Given the description of an element on the screen output the (x, y) to click on. 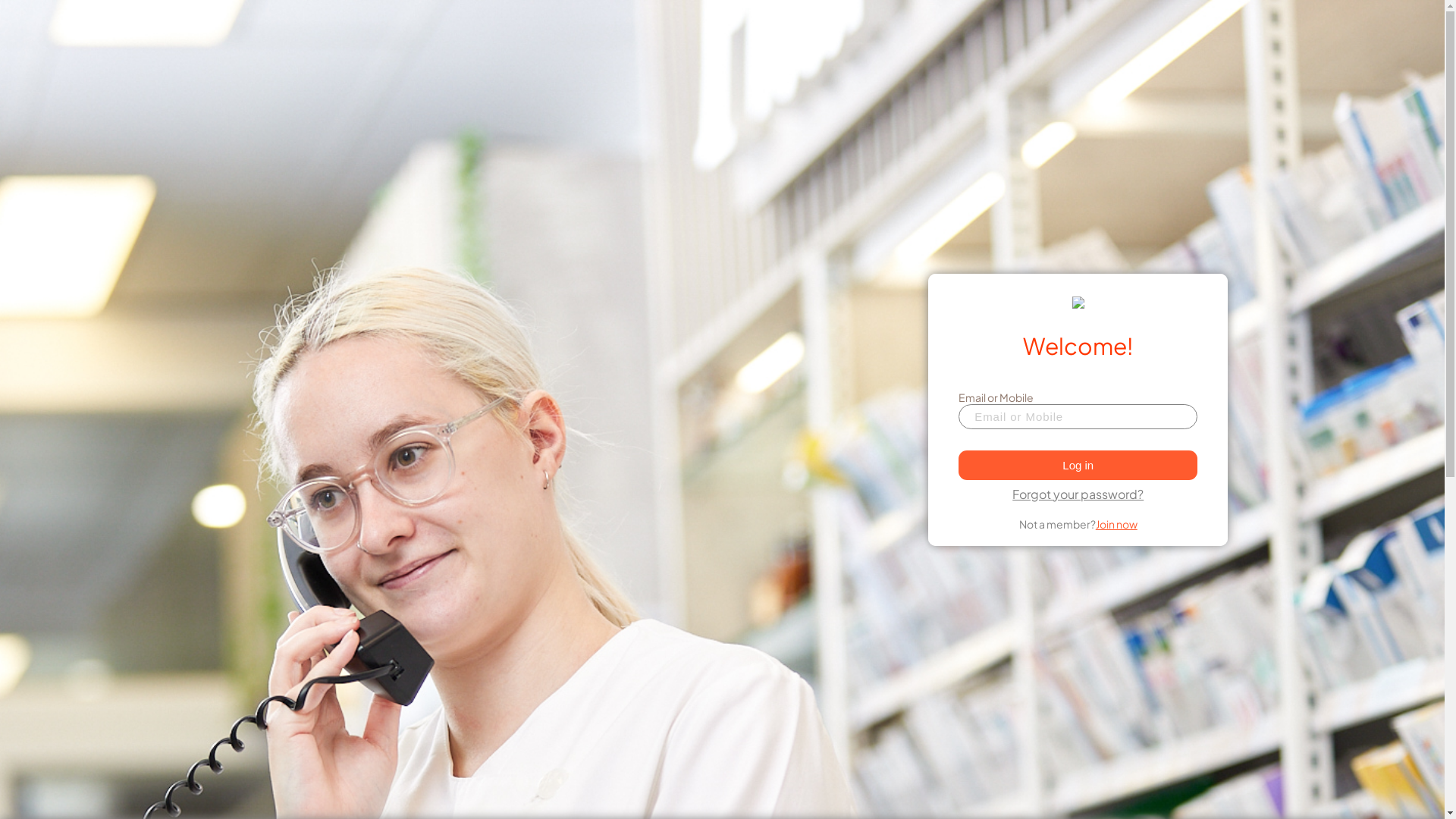
Join now Element type: text (1116, 523)
Forgot your password? Element type: text (1077, 493)
Log in Element type: text (1077, 465)
